Given the description of an element on the screen output the (x, y) to click on. 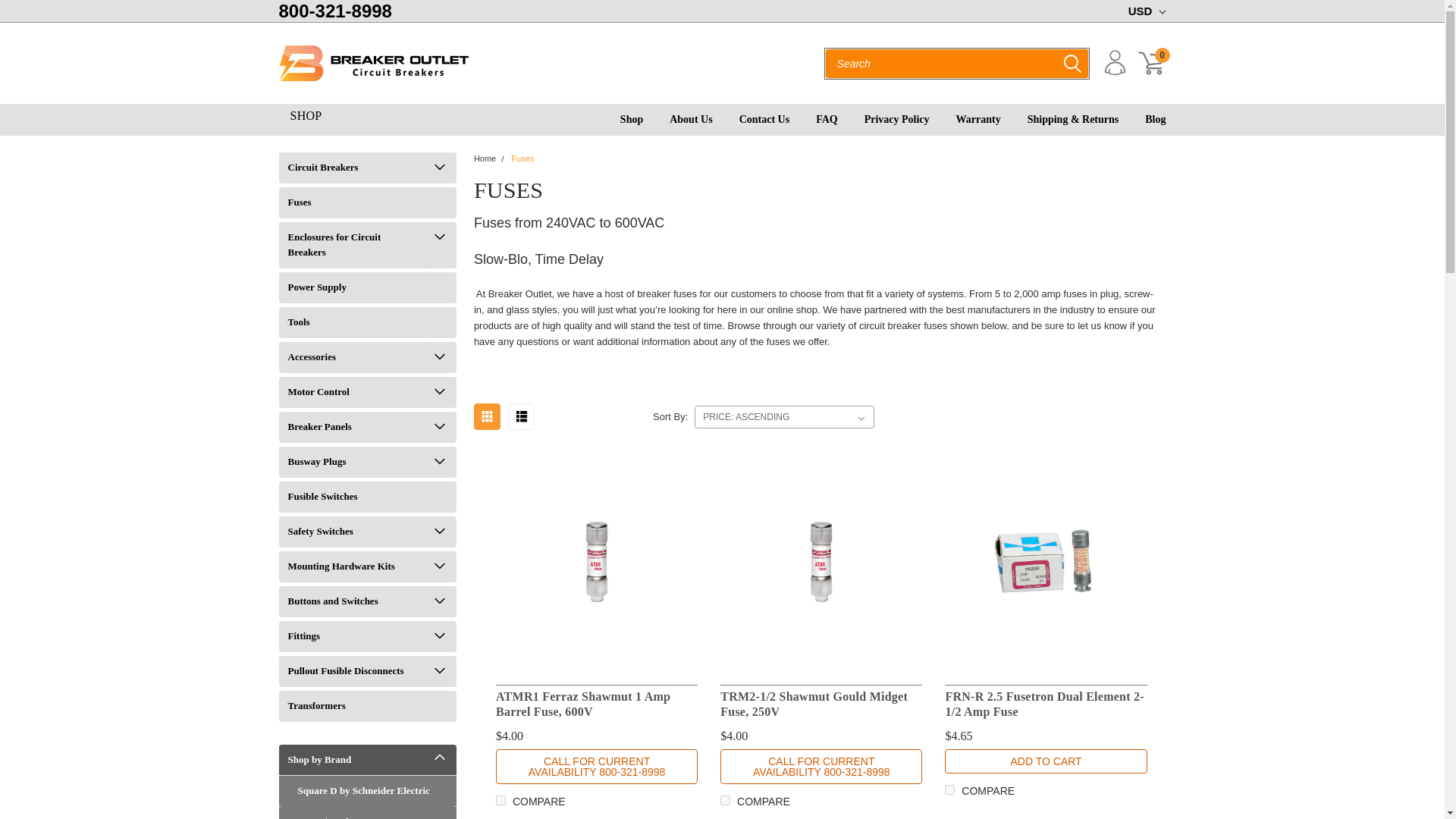
USD (1143, 11)
0 (1151, 62)
9345 (949, 789)
Breaker Outlet (596, 561)
9586 (373, 63)
TR20R (725, 800)
800-321-8998 (821, 561)
9584 (1045, 562)
